Given the description of an element on the screen output the (x, y) to click on. 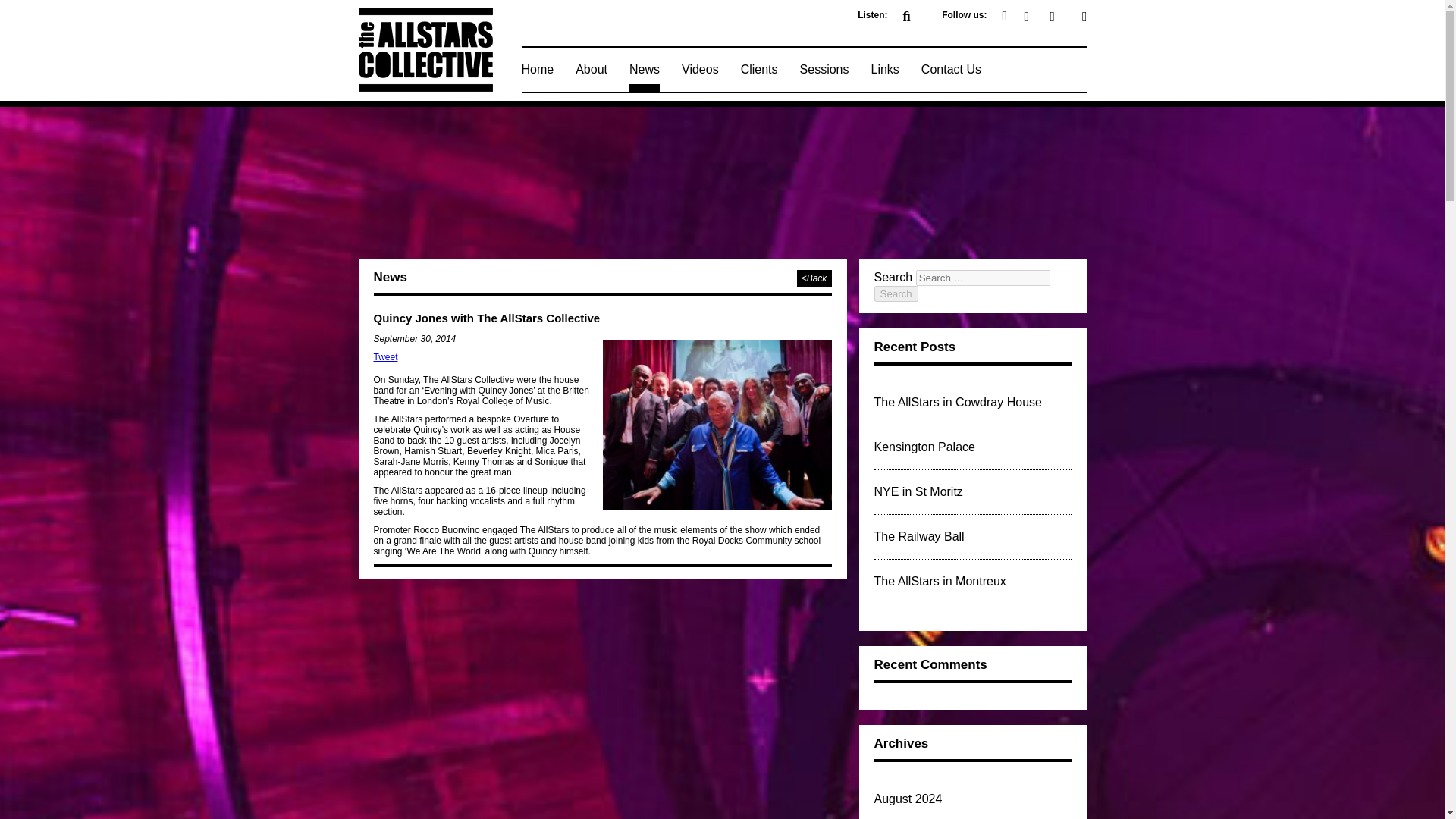
Kensington Palace (923, 446)
Search (895, 293)
NYE in St Moritz (917, 491)
Contact Us (951, 69)
Home (537, 69)
The AllStars in Montreux (939, 581)
The Railway Ball (918, 535)
About (591, 69)
Tweet (384, 357)
Videos (700, 69)
